Given the description of an element on the screen output the (x, y) to click on. 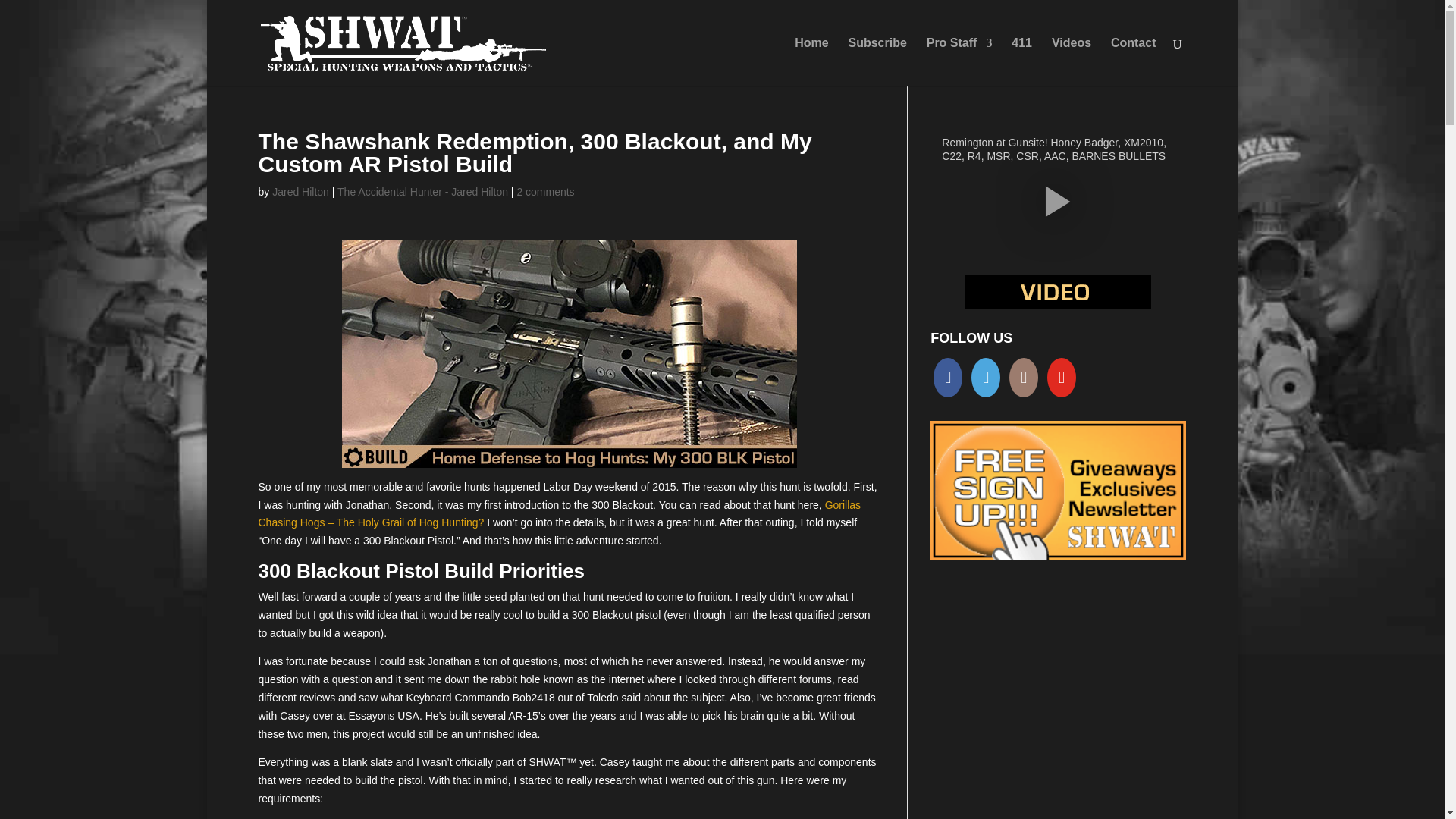
Subscribe (876, 61)
Pro Staff (959, 61)
Contact (1133, 61)
Posts by Jared Hilton (300, 191)
